Given the description of an element on the screen output the (x, y) to click on. 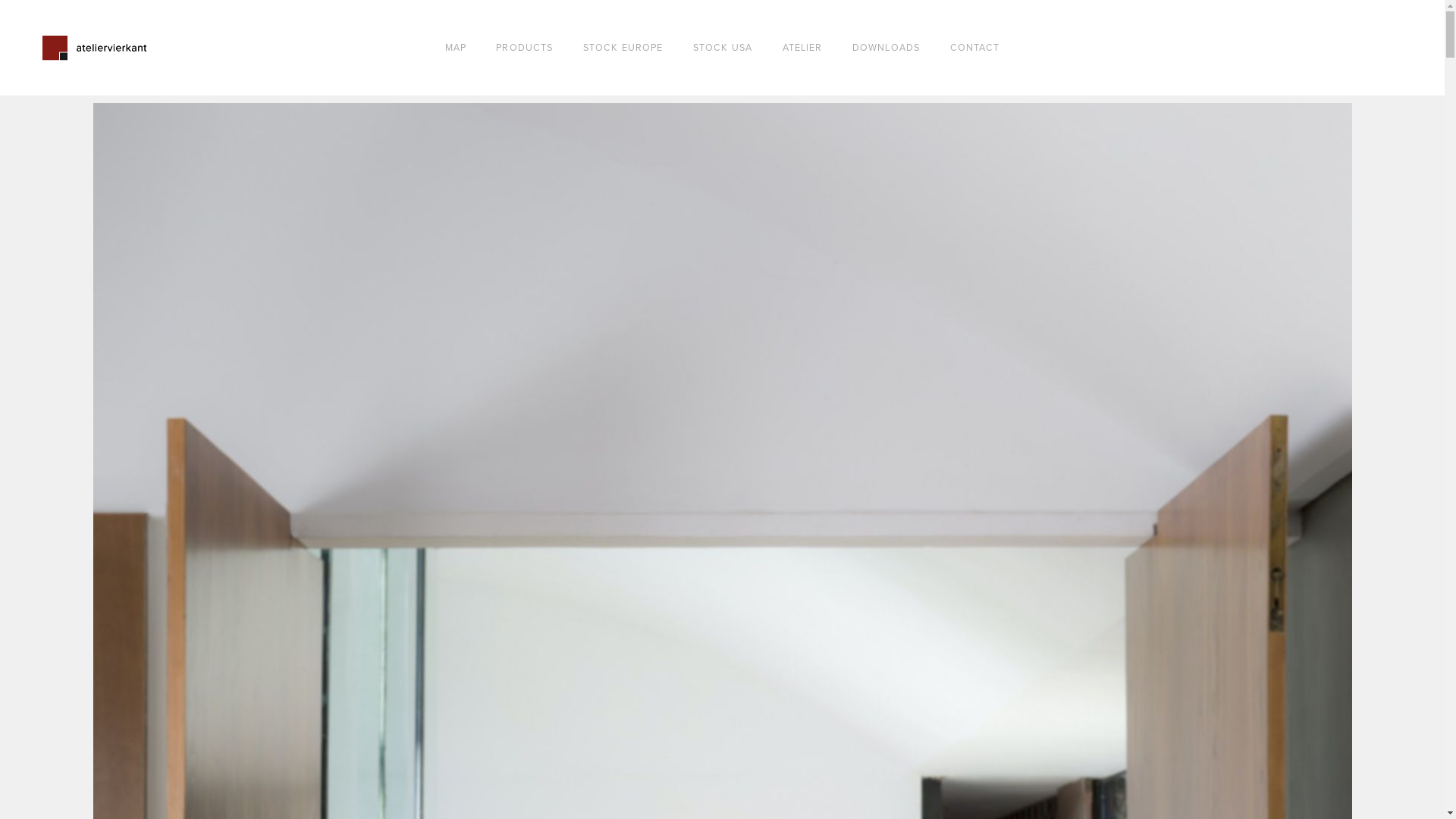
STOCK EUROPE Element type: text (623, 48)
DOWNLOADS Element type: text (885, 48)
STOCK USA Element type: text (722, 48)
PRODUCTS Element type: text (523, 48)
CONTACT Element type: text (975, 48)
ATELIER Element type: text (802, 48)
MAP Element type: text (455, 48)
